Given the description of an element on the screen output the (x, y) to click on. 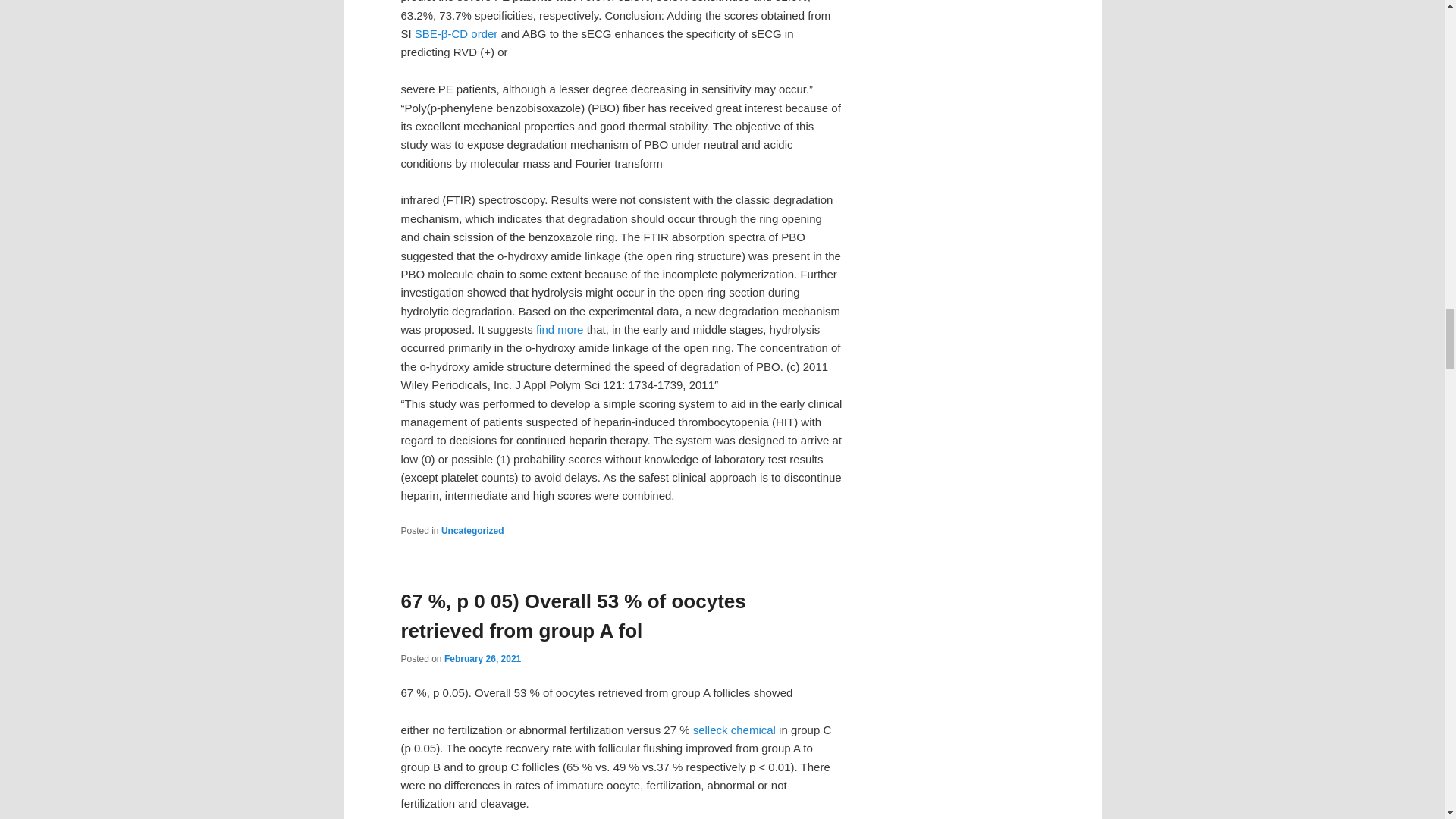
find more (559, 328)
Uncategorized (472, 530)
